Given the description of an element on the screen output the (x, y) to click on. 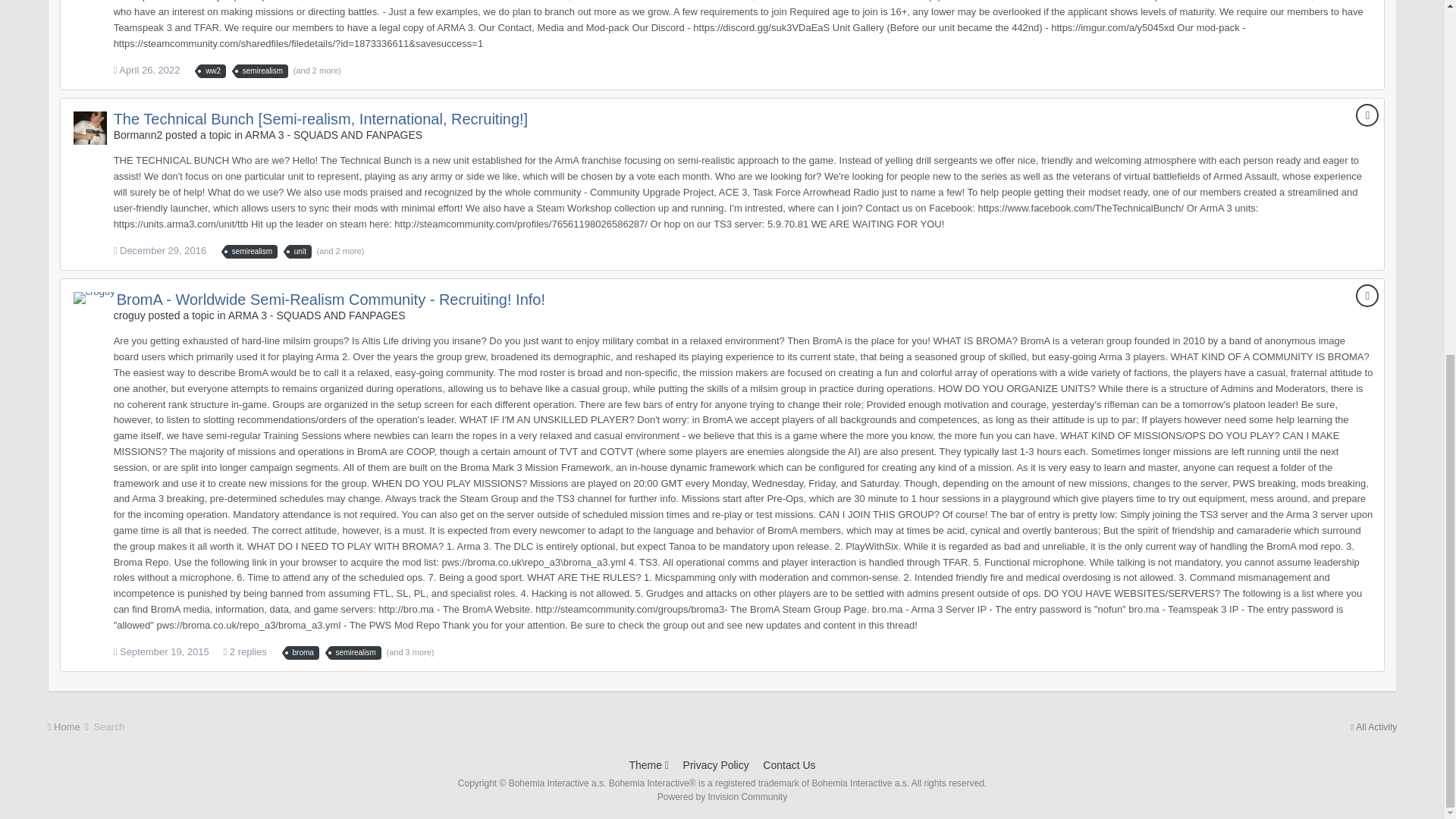
Topic (1366, 115)
Find other content tagged with 'ww2' (212, 70)
Find other content tagged with 'unit' (299, 251)
Go to Bormann2's profile (90, 127)
Find other content tagged with 'semirealism' (262, 70)
Find other content tagged with 'semirealism' (252, 251)
